Given the description of an element on the screen output the (x, y) to click on. 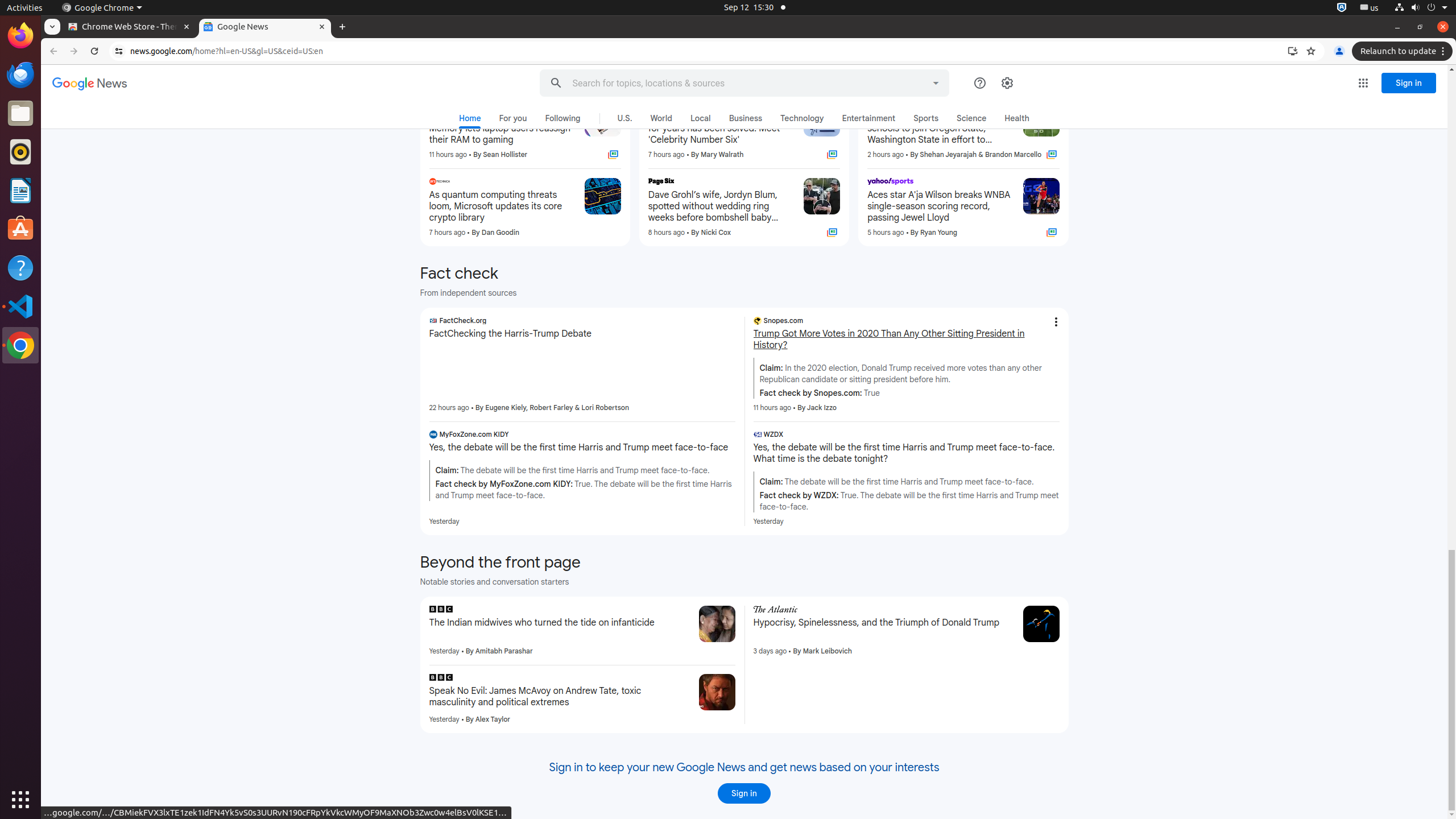
Search for topics, locations & sources Element type: combo-box (732, 82)
Search Element type: push-button (555, 82)
Sign in Element type: push-button (744, 793)
Dave Grohl’s wife, Jordyn Blum, spotted without wedding ring weeks before bombshell baby news Element type: link (721, 206)
More - Aces star A'ja Wilson breaks WNBA single-season scoring record, passing Jewel Lloyd Element type: push-button (1010, 183)
